Given the description of an element on the screen output the (x, y) to click on. 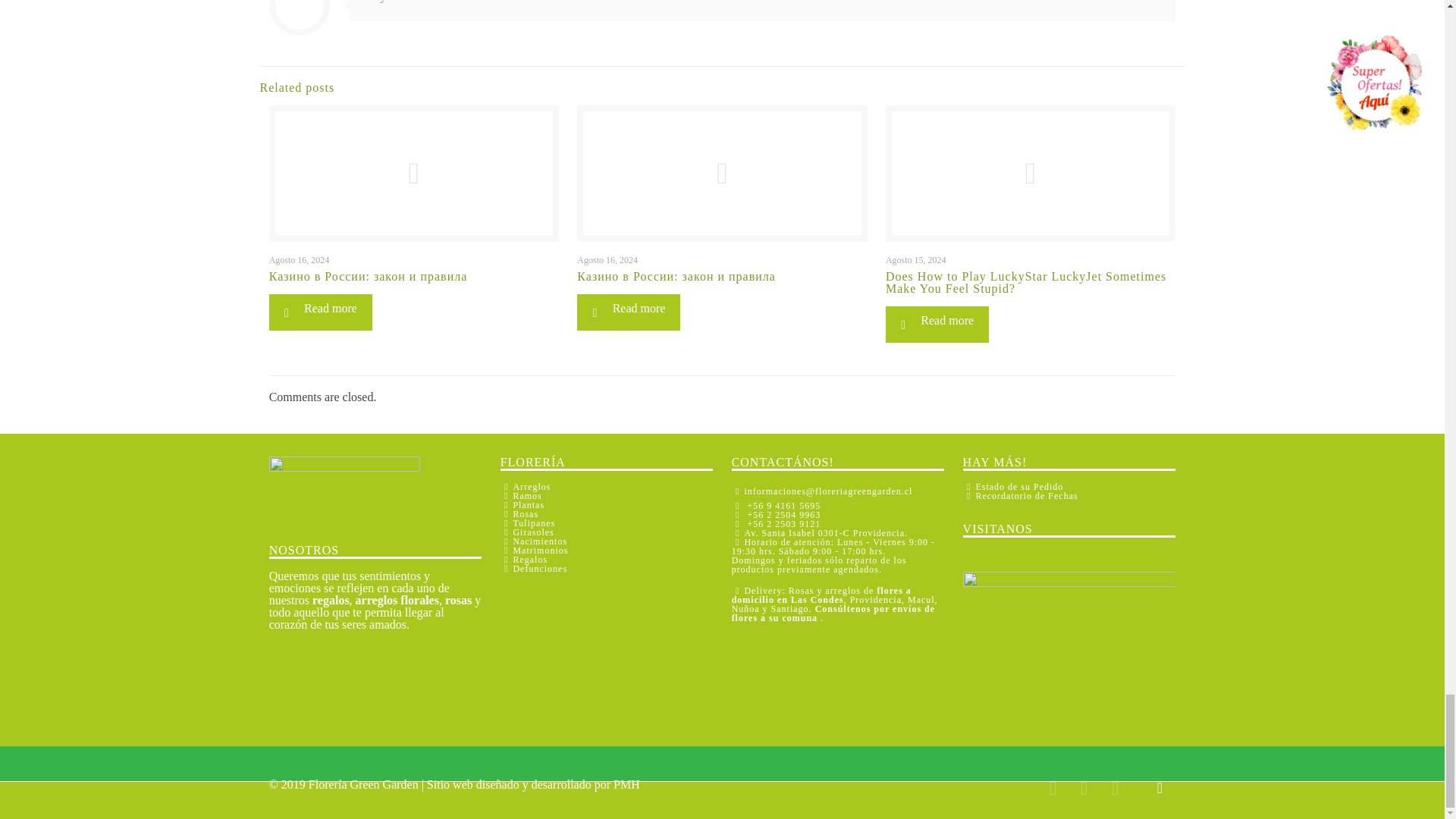
Facebook (1083, 790)
WhatsApp (1052, 790)
Instagram (1115, 790)
